Given the description of an element on the screen output the (x, y) to click on. 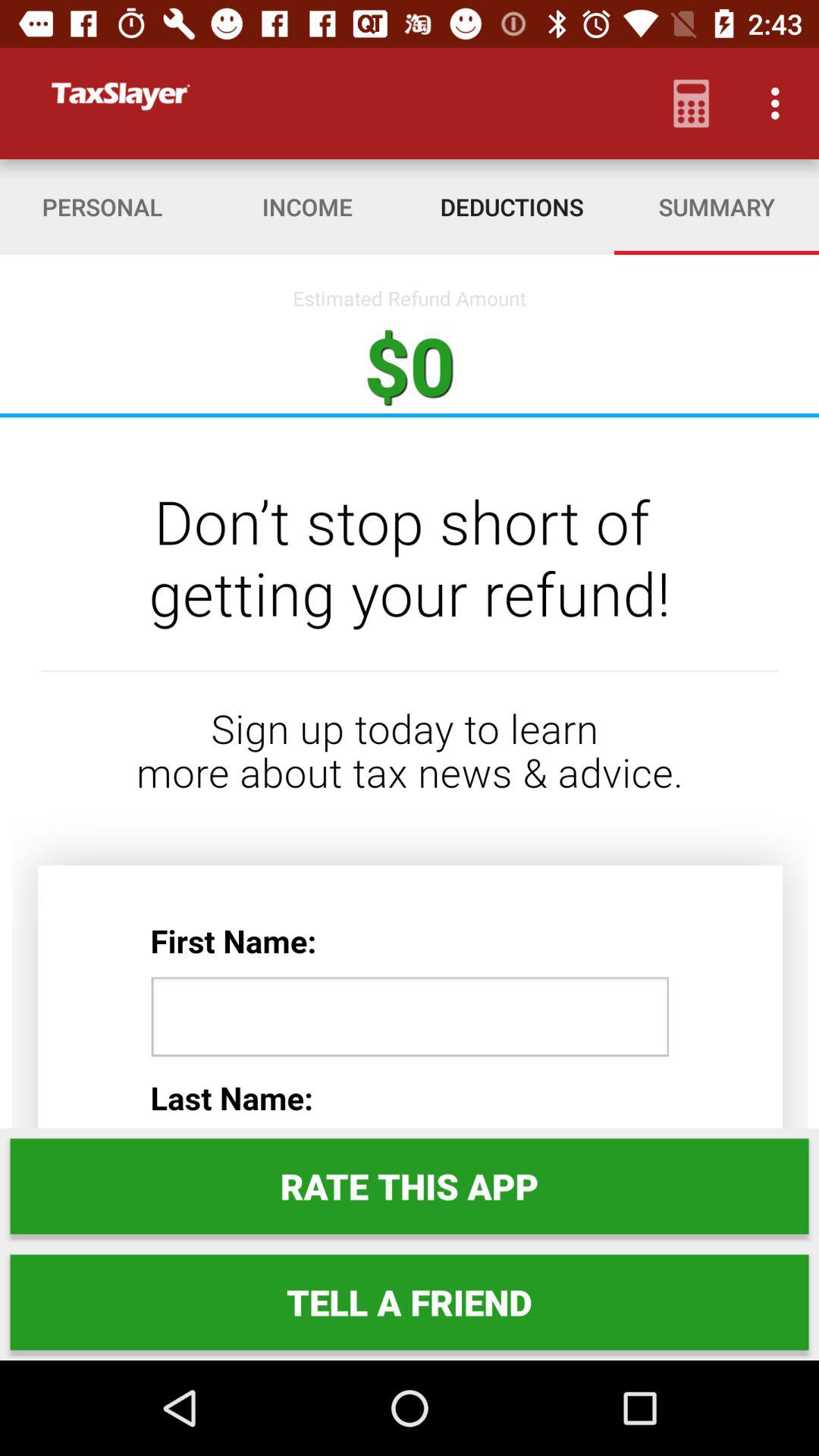
jump until tell a friend (409, 1302)
